Given the description of an element on the screen output the (x, y) to click on. 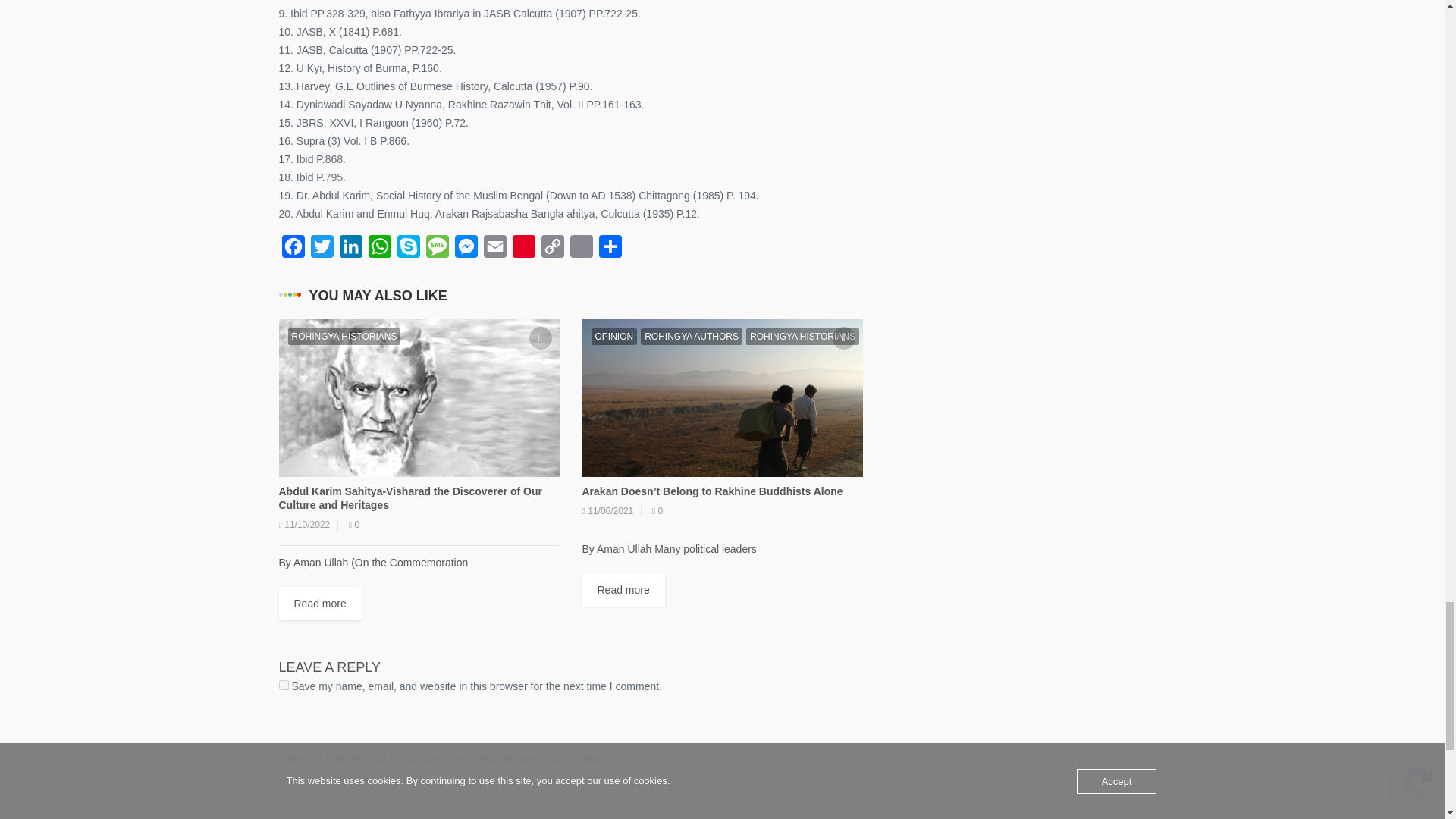
Messenger (465, 250)
Print (581, 250)
Print (581, 250)
Copy Link (552, 250)
Email (494, 250)
Message (437, 250)
Pinterest (523, 250)
Share (609, 250)
Skype (408, 250)
Twitter (321, 250)
WhatsApp (379, 250)
Facebook (293, 250)
Messenger (465, 250)
yes (283, 685)
Email (494, 250)
